Given the description of an element on the screen output the (x, y) to click on. 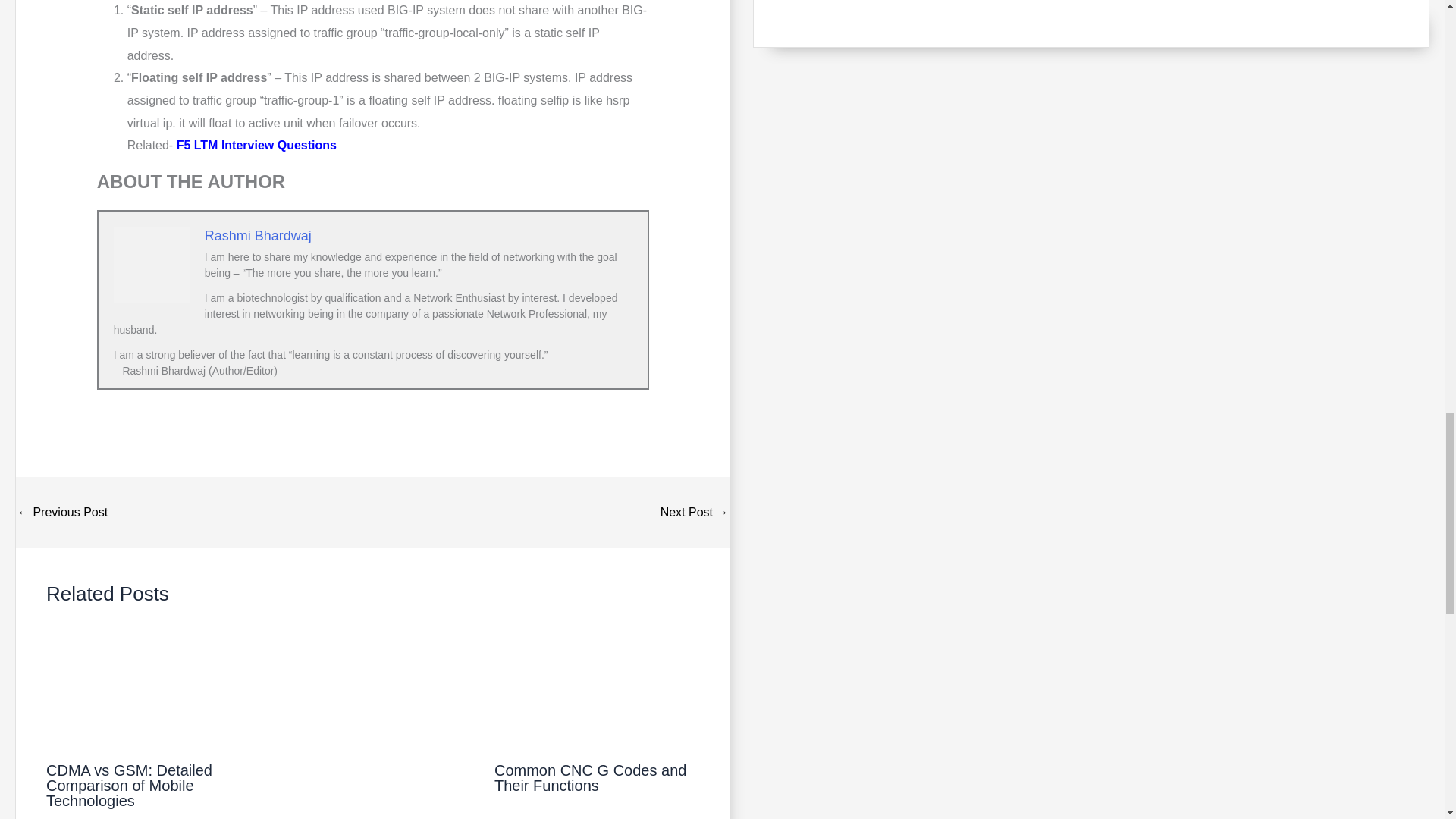
Cisco Traceroute - How to Stop Traceroute in Cisco Devices (62, 512)
HOW TO CONFIGURE SELF IP ADDRESS IN F5 BIG IP LTM (695, 512)
